Given the description of an element on the screen output the (x, y) to click on. 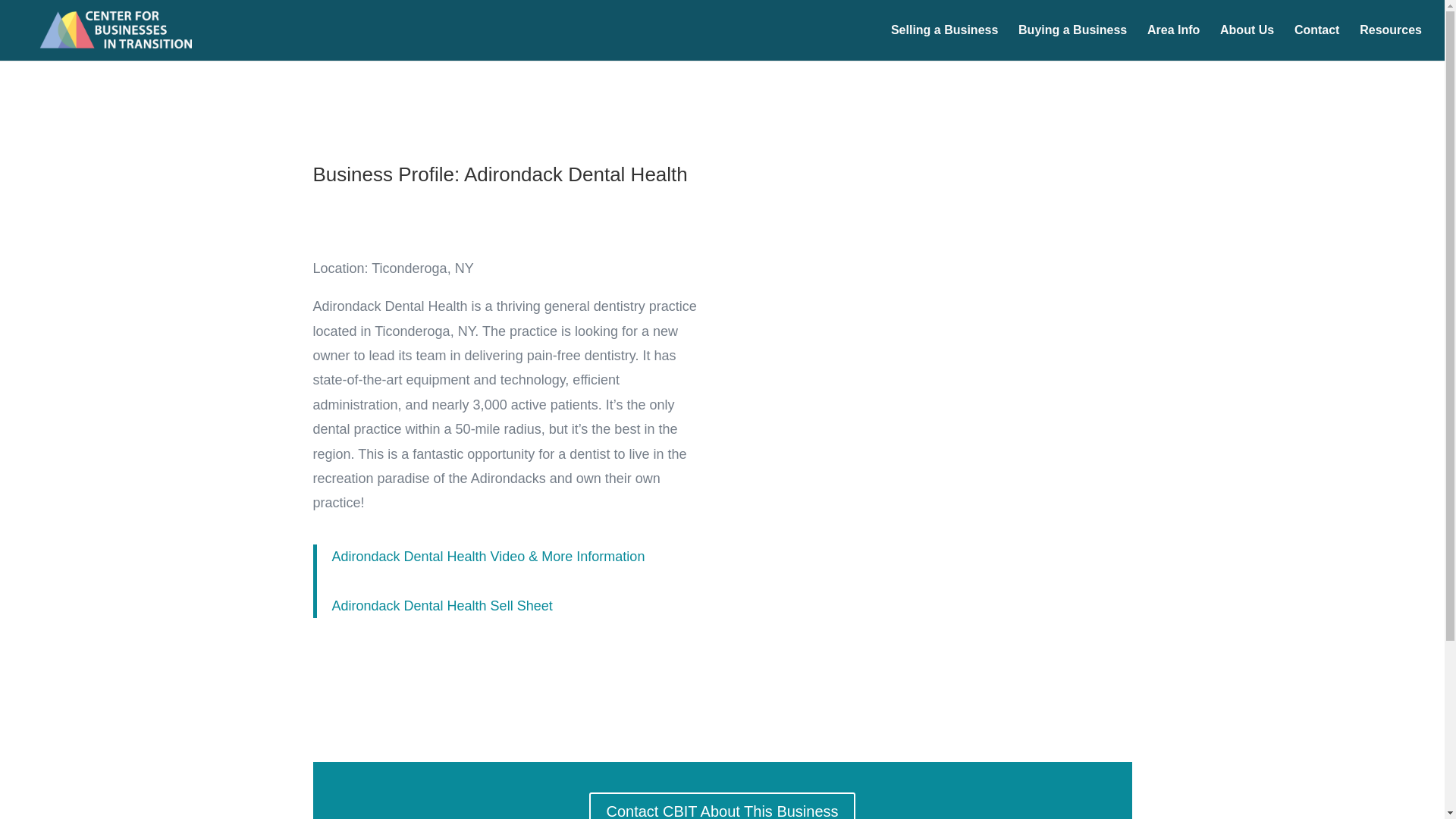
Buying a Business (1071, 42)
About Us (1247, 42)
Resources (1390, 42)
Area Info (1173, 42)
Adirondack Dental Health Sell Sheet (442, 605)
Contact CBIT About This Business (721, 805)
Contact (1316, 42)
Selling a Business (944, 42)
